Given the description of an element on the screen output the (x, y) to click on. 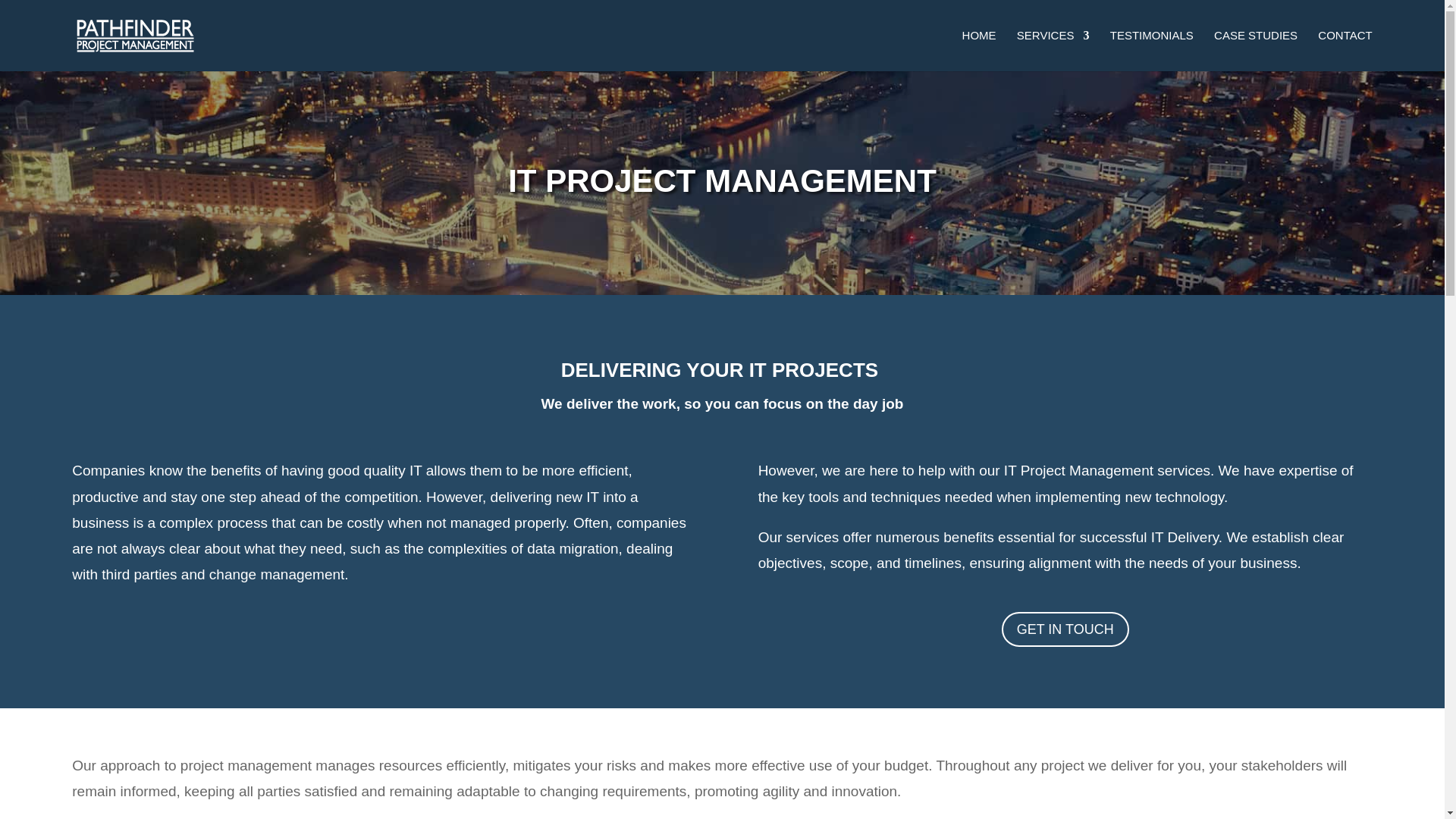
SERVICES (1052, 50)
TESTIMONIALS (1151, 50)
CONTACT (1344, 50)
CASE STUDIES (1255, 50)
GET IN TOUCH (1065, 628)
